Given the description of an element on the screen output the (x, y) to click on. 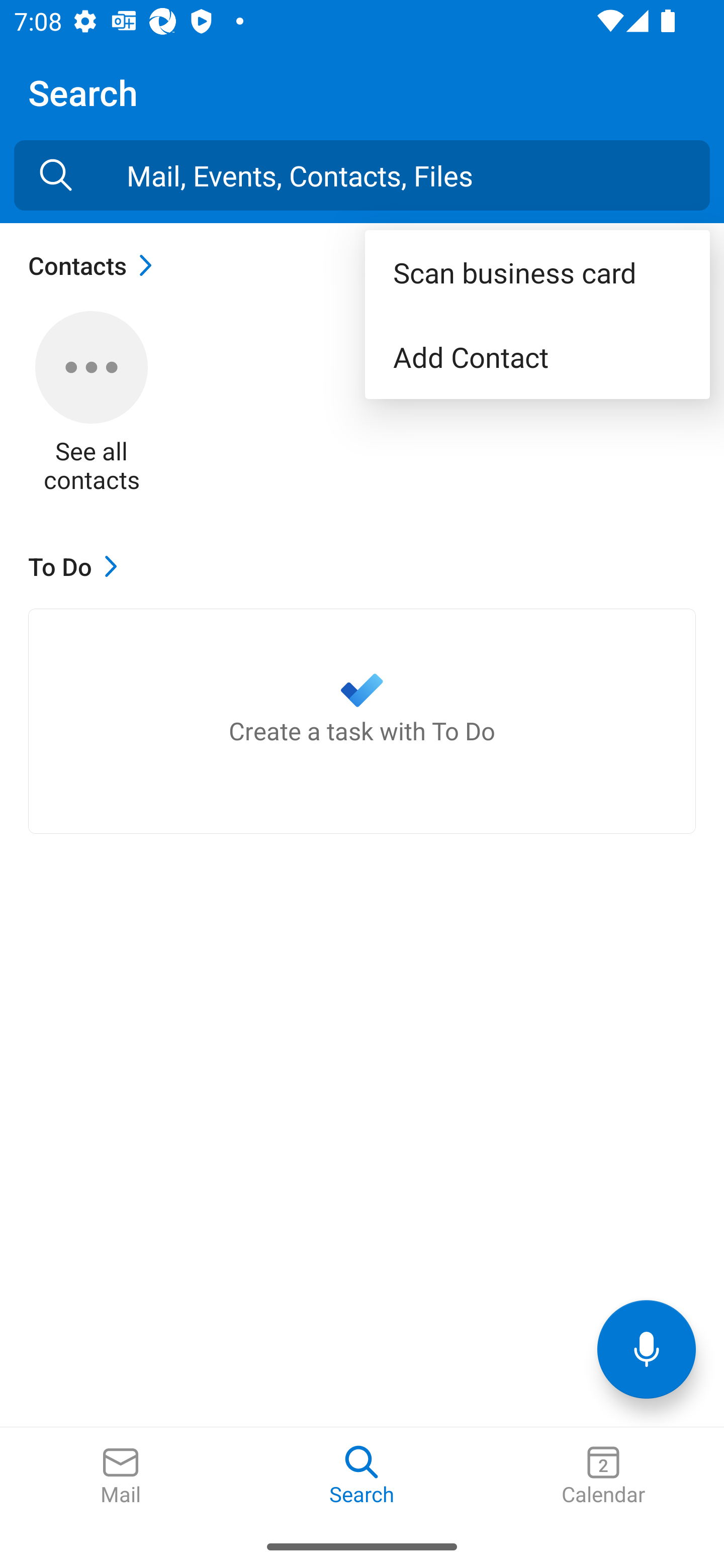
Scan business card (537, 272)
Add Contact (537, 356)
